Given the description of an element on the screen output the (x, y) to click on. 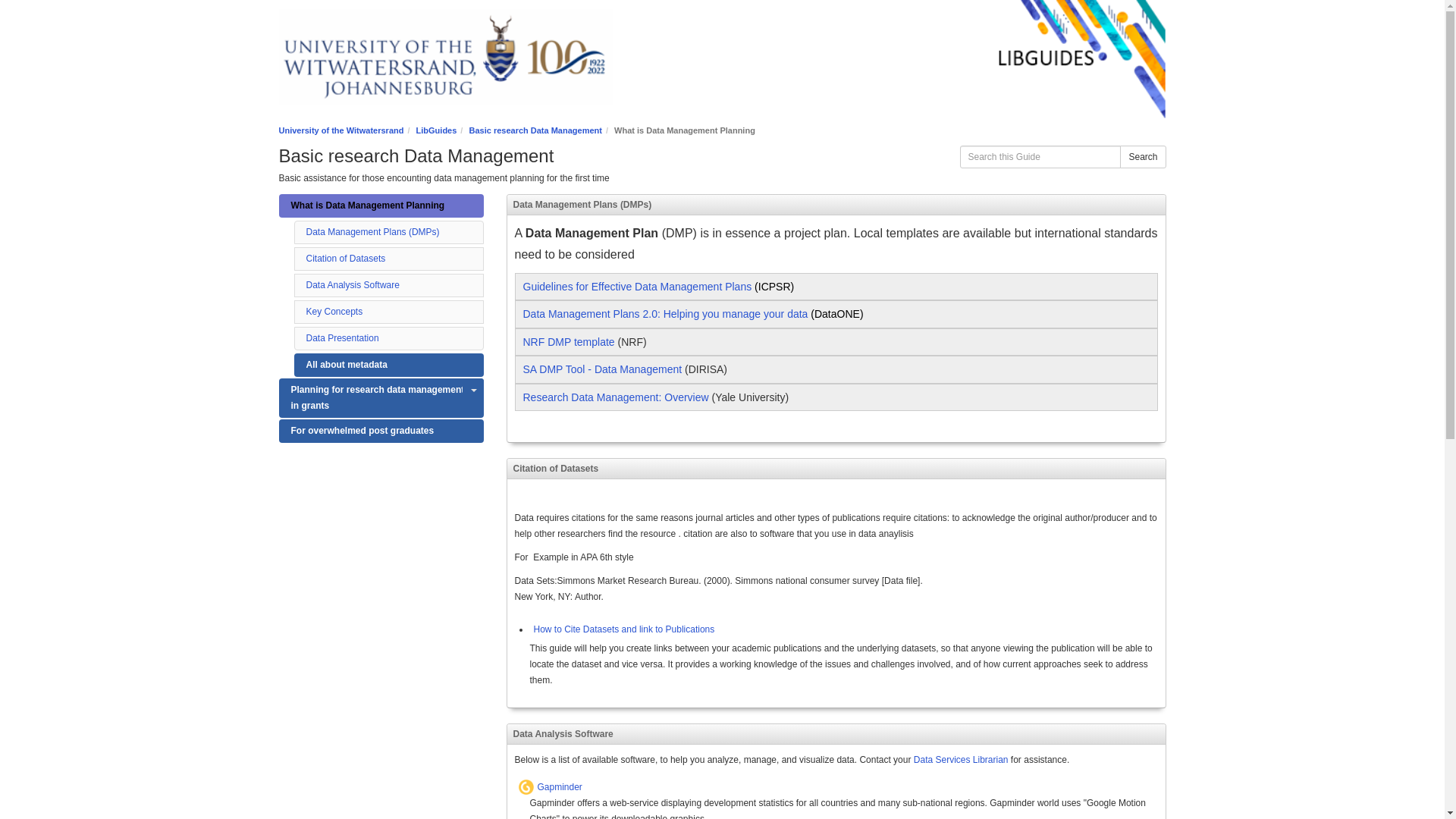
Data Presentation (341, 337)
Gapminder (850, 788)
Toggle Dropdown (473, 390)
What is Data Management Planning (381, 205)
LibGuides (436, 130)
How to Cite Datasets and link to Publications (621, 629)
Search (1142, 156)
Data Management Plans 2.0: Helping you manage your data (665, 313)
All about metadata (388, 364)
Citation of Datasets (345, 258)
Planning for research data management in grants (381, 397)
SA DMP Tool - Data Management (602, 369)
Data Analysis Software (351, 285)
Research Data Management: Overview (615, 398)
